Given the description of an element on the screen output the (x, y) to click on. 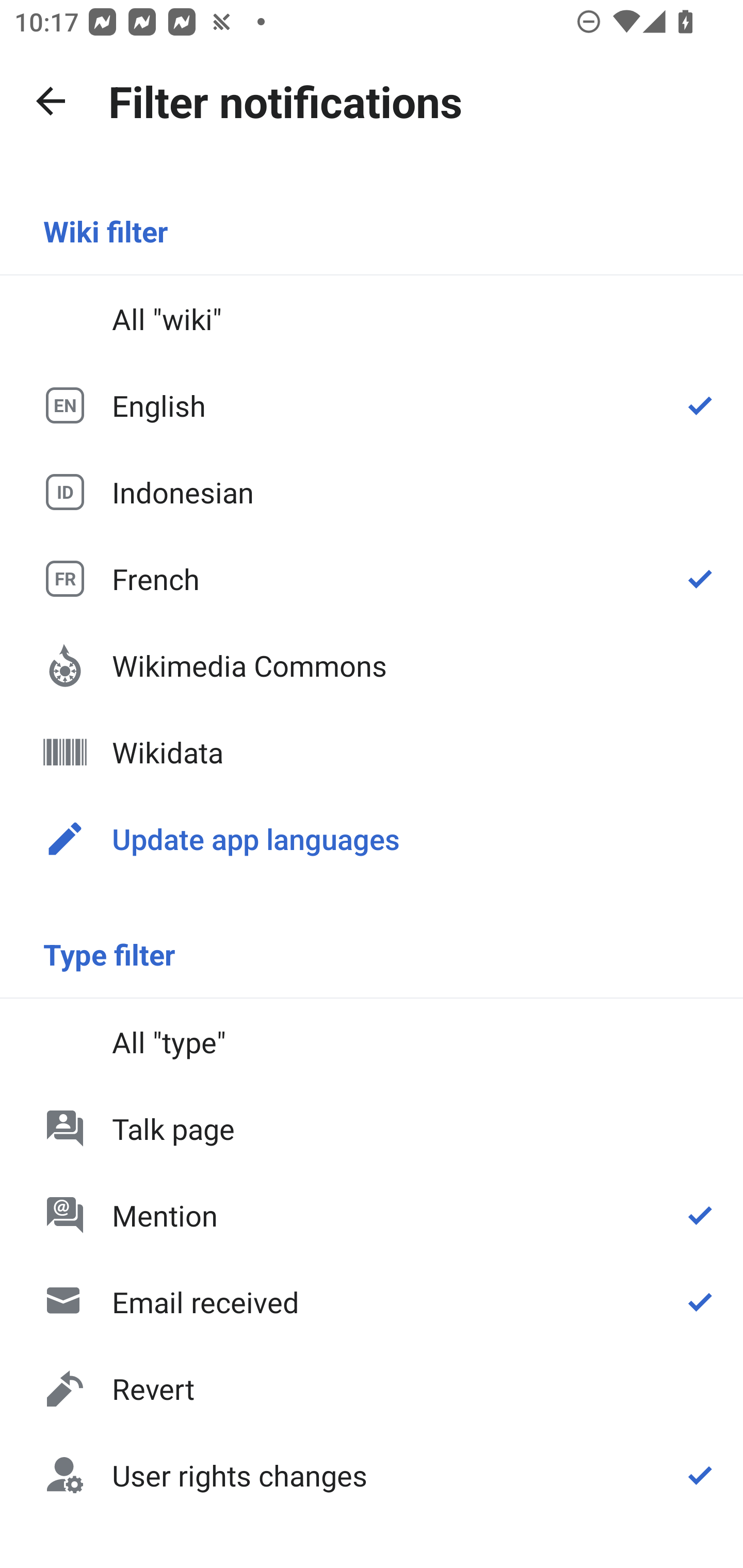
Navigate up (50, 101)
All "wiki" (371, 318)
EN English (371, 405)
ID Indonesian (371, 491)
FR French (371, 578)
Wikimedia Commons (371, 665)
Wikidata (371, 751)
Update app languages (371, 837)
All "type" (371, 1041)
Talk page (371, 1128)
Mention (371, 1215)
Email received (371, 1302)
Revert (371, 1388)
User rights changes (371, 1474)
